Given the description of an element on the screen output the (x, y) to click on. 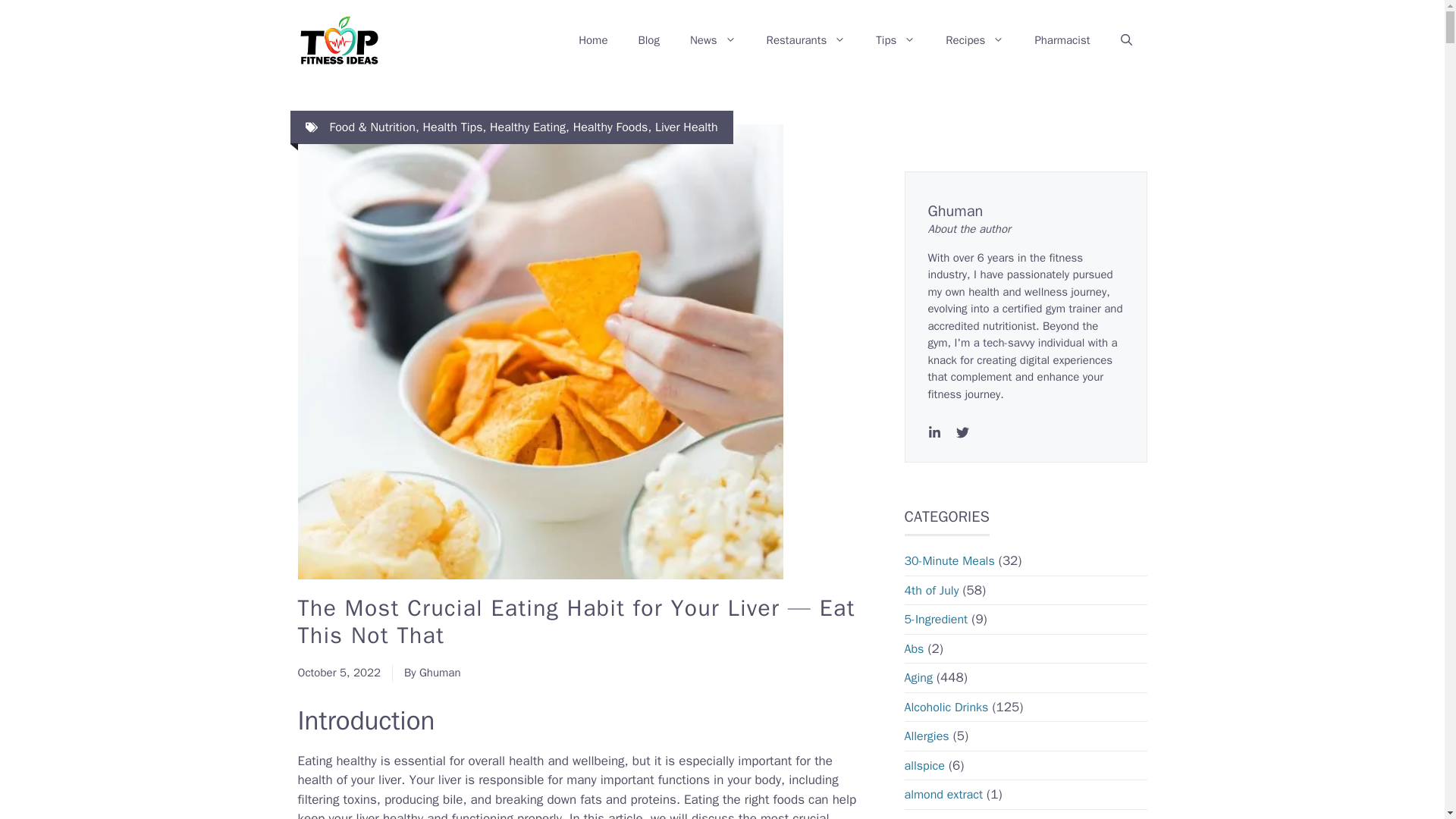
Blog (648, 40)
Tips (895, 40)
Recipes (974, 40)
Restaurants (806, 40)
Home (593, 40)
News (713, 40)
